Given the description of an element on the screen output the (x, y) to click on. 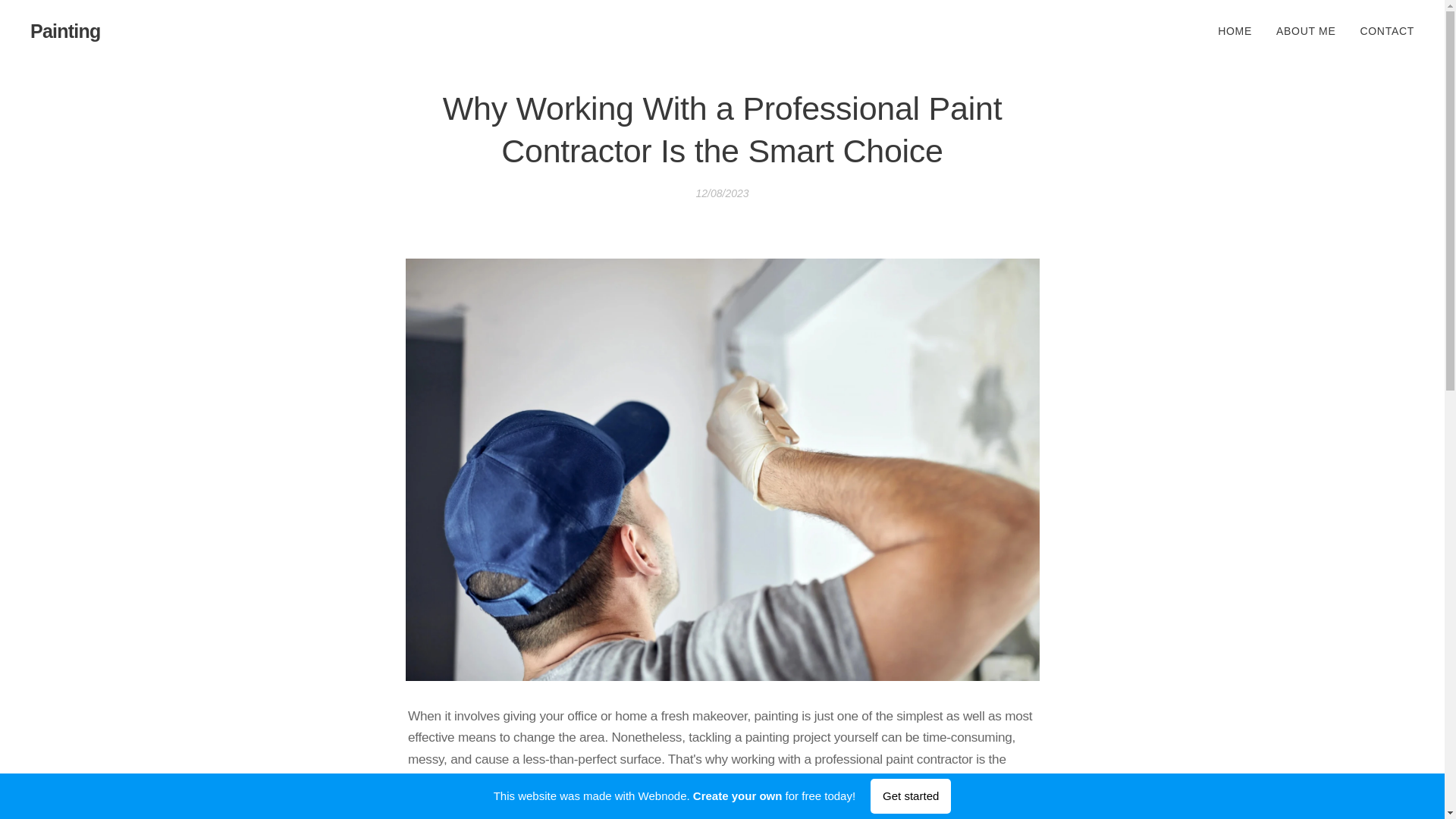
ABOUT ME (1305, 30)
everett top painting contractor (927, 780)
CONTACT (1380, 30)
HOME (1238, 30)
Painting (65, 31)
